Given the description of an element on the screen output the (x, y) to click on. 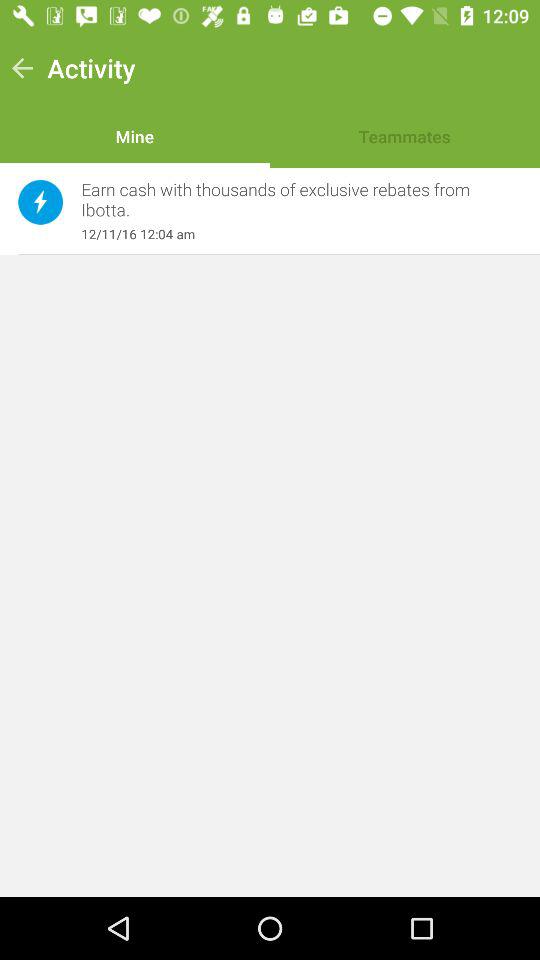
turn off the icon next to the activity (22, 67)
